Given the description of an element on the screen output the (x, y) to click on. 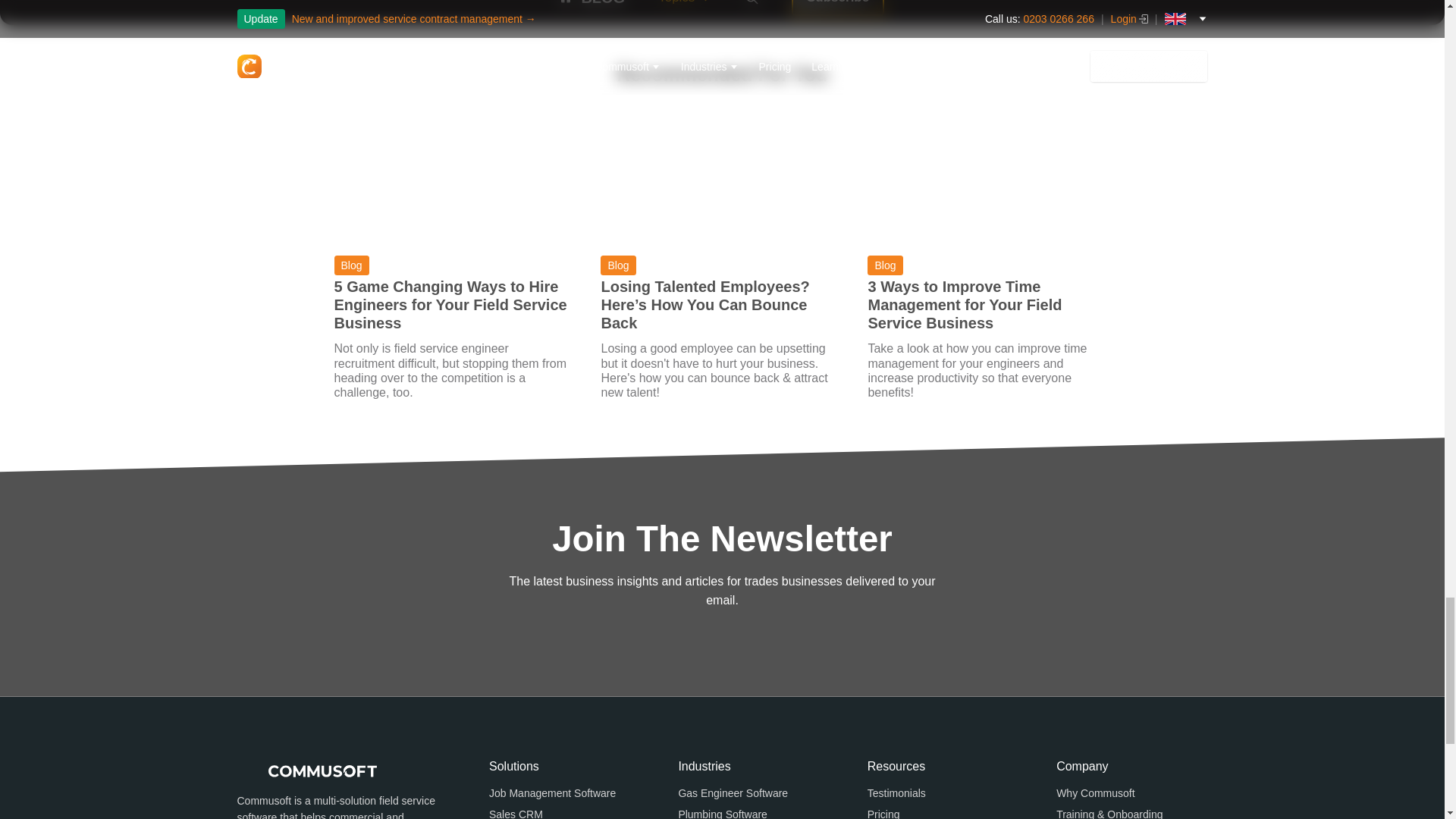
Commusoft (305, 770)
